Given the description of an element on the screen output the (x, y) to click on. 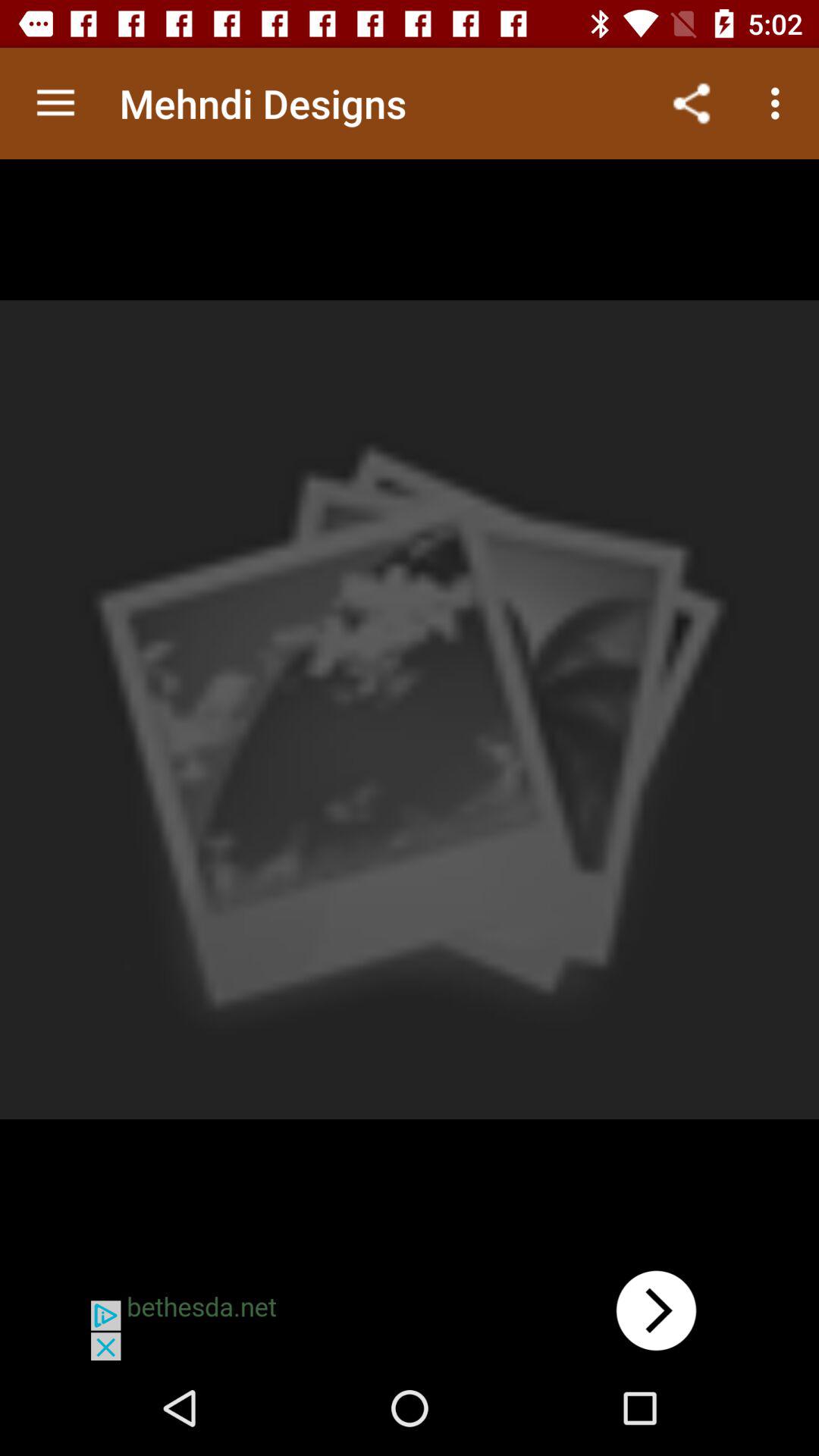
advert (409, 1310)
